Given the description of an element on the screen output the (x, y) to click on. 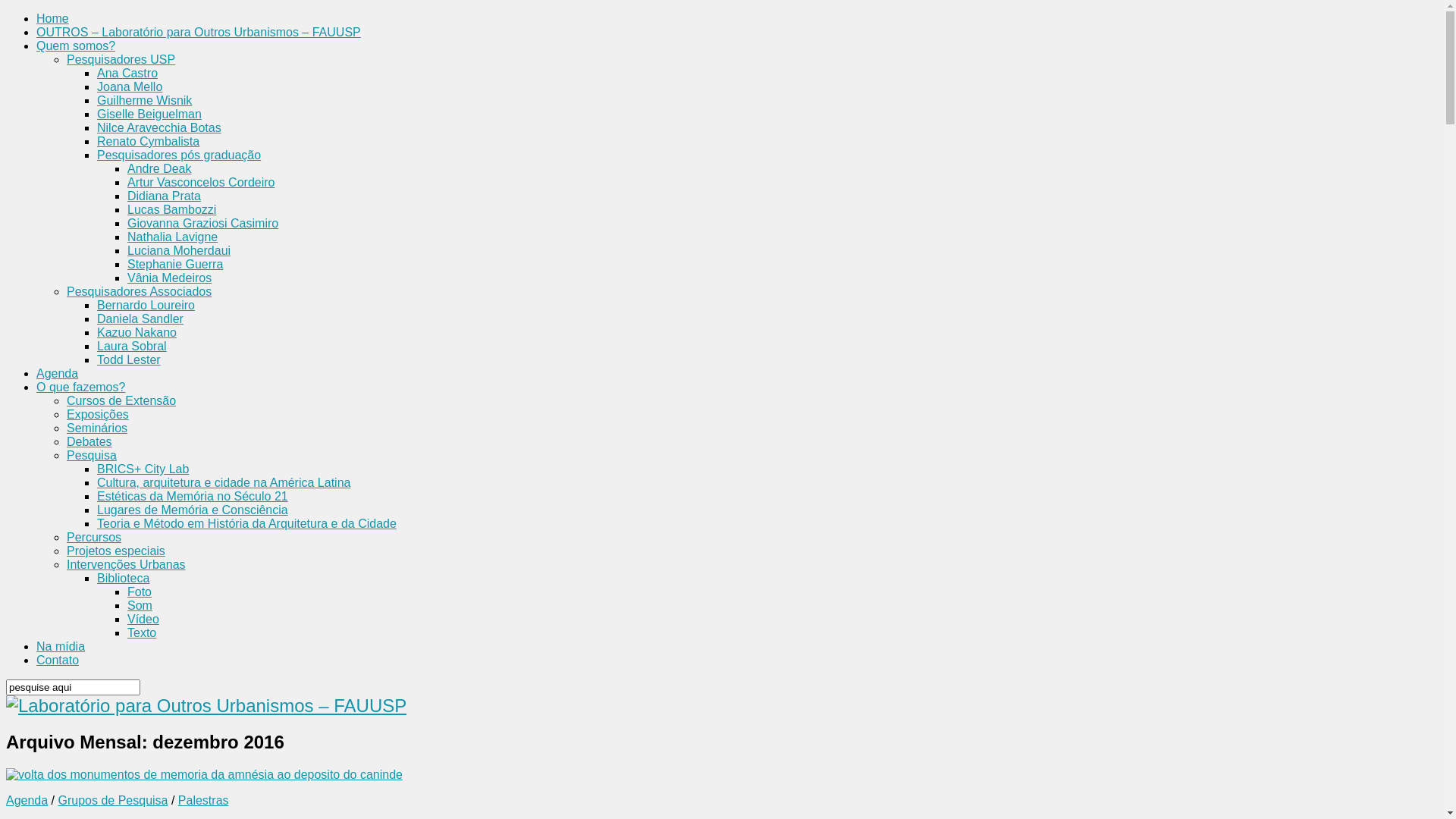
Giovanna Graziosi Casimiro Element type: text (202, 222)
Todd Lester Element type: text (128, 359)
Andre Deak Element type: text (159, 168)
Grupos de Pesquisa Element type: text (113, 799)
Joana Mello Element type: text (129, 86)
Pesquisadores Associados Element type: text (138, 291)
Agenda Element type: text (26, 799)
Daniela Sandler Element type: text (140, 318)
Contato Element type: text (57, 659)
Kazuo Nakano Element type: text (136, 332)
Projetos especiais Element type: text (115, 550)
Laura Sobral Element type: text (131, 345)
Palestras Element type: text (203, 799)
Pesquisa Element type: text (91, 454)
Nathalia Lavigne Element type: text (172, 236)
Foto Element type: text (139, 591)
Luciana Moherdaui Element type: text (178, 250)
O que fazemos? Element type: text (80, 386)
Percursos Element type: text (93, 536)
Home Element type: text (52, 18)
Nilce Aravecchia Botas Element type: text (159, 127)
Giselle Beiguelman Element type: text (149, 113)
Som Element type: text (139, 605)
Guilherme Wisnik Element type: text (144, 100)
Biblioteca Element type: text (123, 577)
Lucas Bambozzi Element type: text (171, 209)
#Ocupa_monumento Element type: hover (204, 774)
Bernardo Loureiro Element type: text (145, 304)
BRICS+ City Lab Element type: text (142, 468)
Didiana Prata Element type: text (163, 195)
Quem somos? Element type: text (75, 45)
Stephanie Guerra Element type: text (174, 263)
Renato Cymbalista Element type: text (148, 140)
Artur Vasconcelos Cordeiro Element type: text (200, 181)
Ana Castro Element type: text (127, 72)
Agenda Element type: text (57, 373)
Pesquisadores USP Element type: text (120, 59)
Texto Element type: text (141, 632)
Debates Element type: text (89, 441)
